Given the description of an element on the screen output the (x, y) to click on. 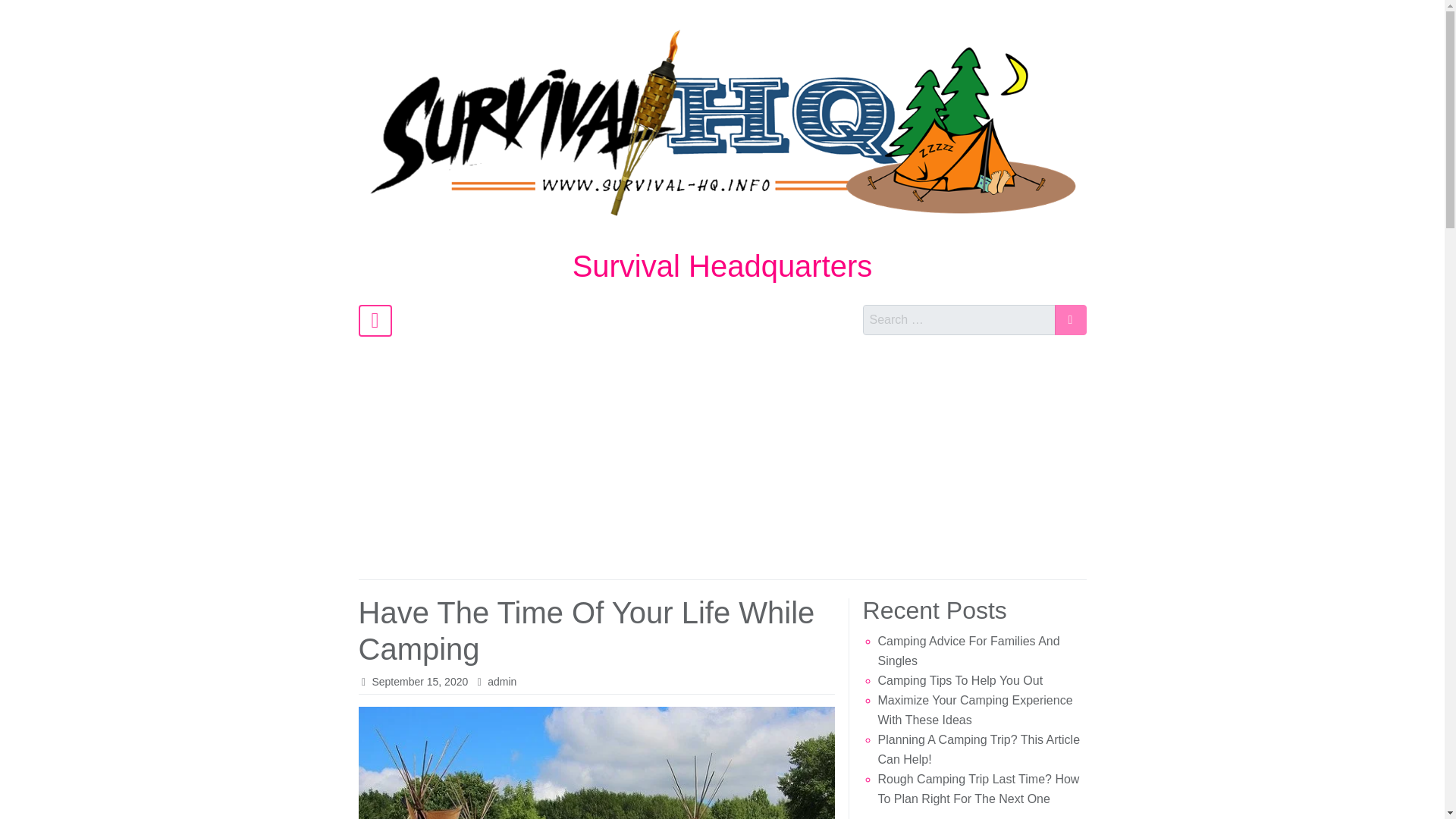
September 15, 2020 (419, 681)
Planning A Camping Trip? This Article Can Help! (978, 749)
Camping Tips To Help You Out (960, 680)
Camping Advice For Families And Singles (968, 650)
Survival Headquarters (722, 265)
admin (501, 681)
Maximize Your Camping Experience With These Ideas (975, 709)
Survival Headquarters (722, 265)
